Given the description of an element on the screen output the (x, y) to click on. 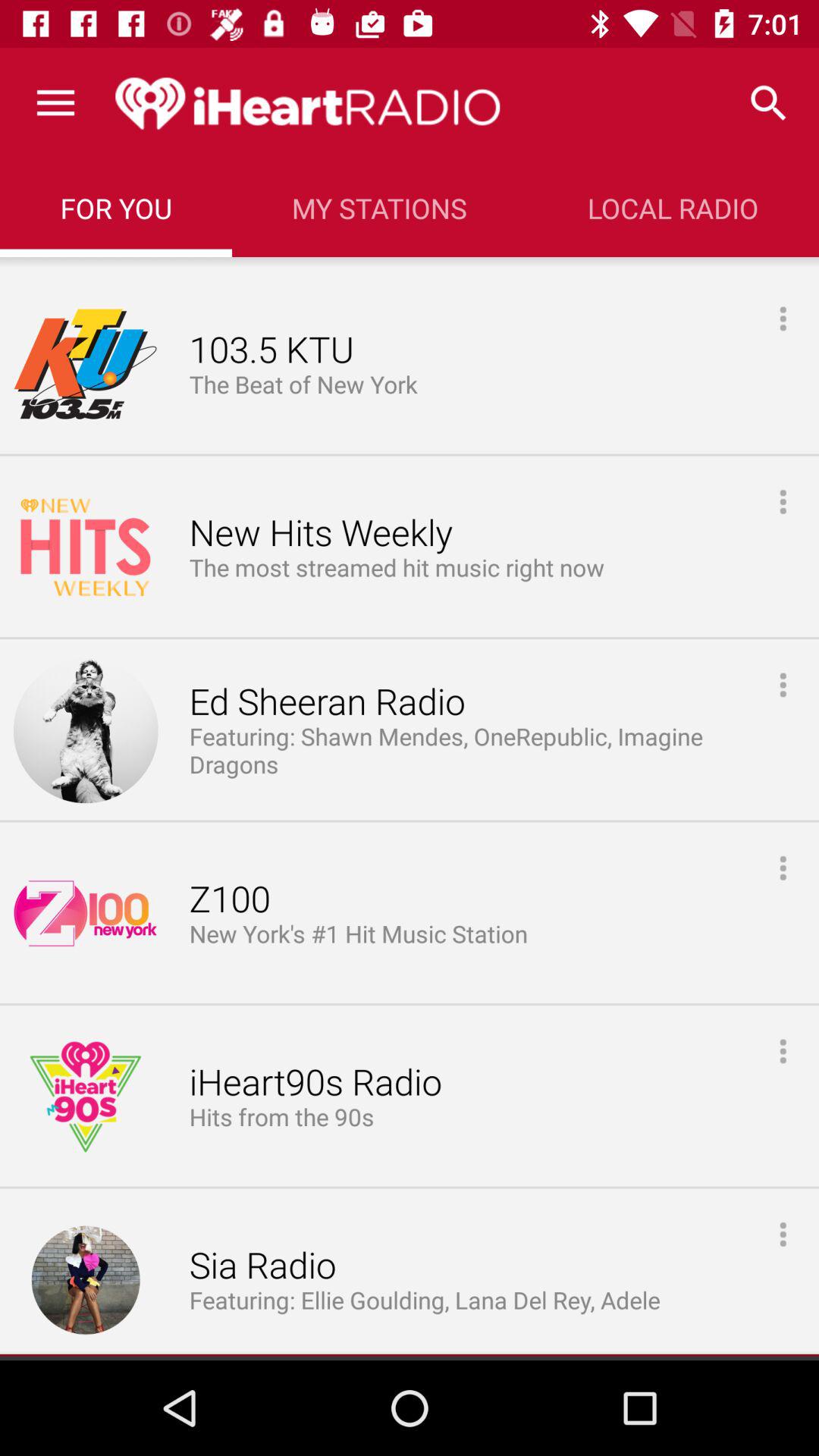
turn on item above the the most streamed icon (320, 533)
